Given the description of an element on the screen output the (x, y) to click on. 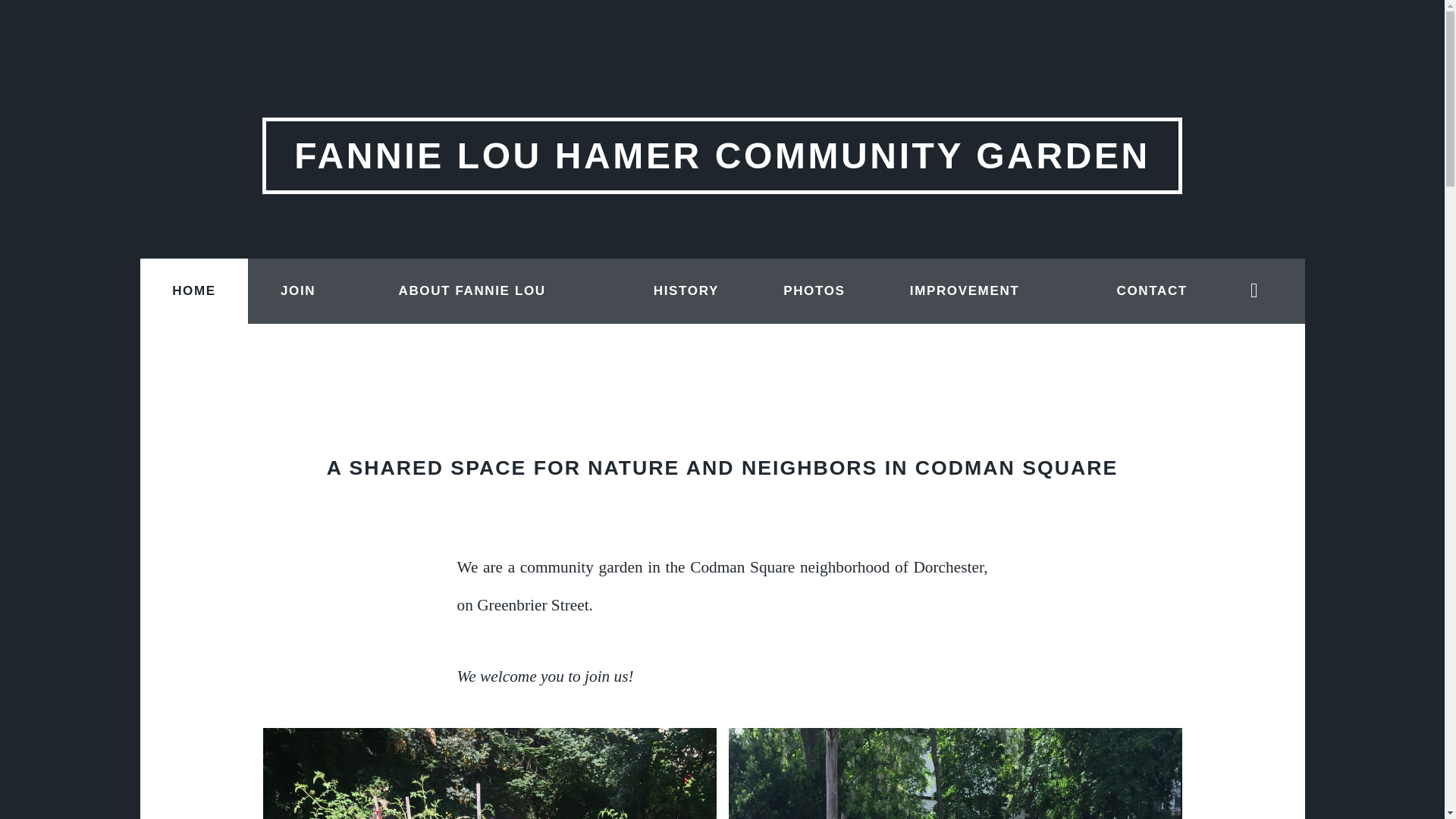
JOIN US (306, 323)
CONTACT US (1160, 323)
IMPROVEMENT PLAN (980, 323)
HISTORY (686, 290)
PHOTOS (814, 290)
FANNIE LOU HAMER COMMUNITY GARDEN (722, 155)
ABOUT FANNIE LOU HAMER (493, 323)
HOME (193, 290)
